Given the description of an element on the screen output the (x, y) to click on. 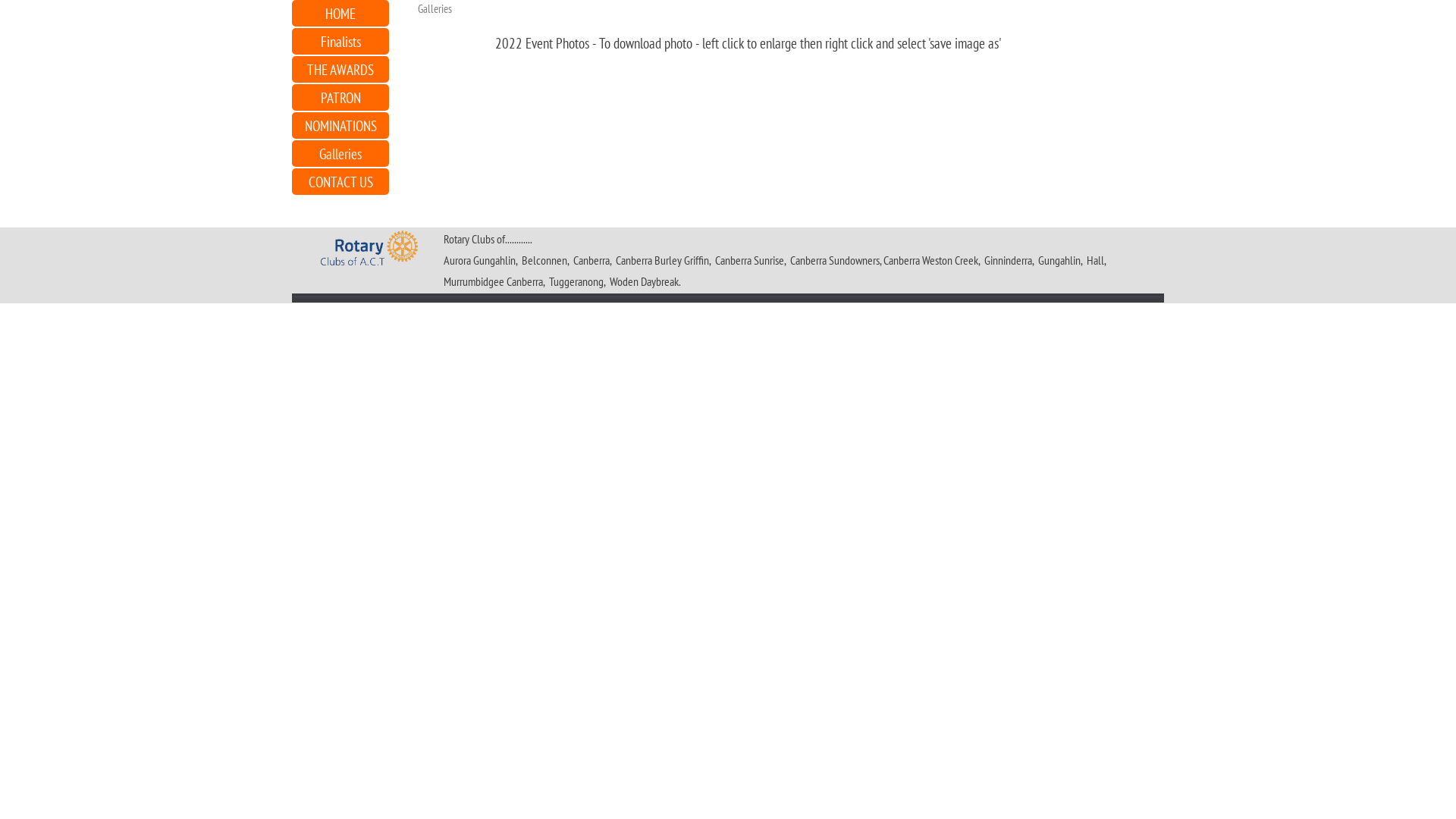
PATRON Element type: text (340, 97)
NOMINATIONS Element type: text (340, 125)
THE AWARDS Element type: text (340, 69)
HOME Element type: text (340, 13)
CONTACT US Element type: text (340, 181)
